Given the description of an element on the screen output the (x, y) to click on. 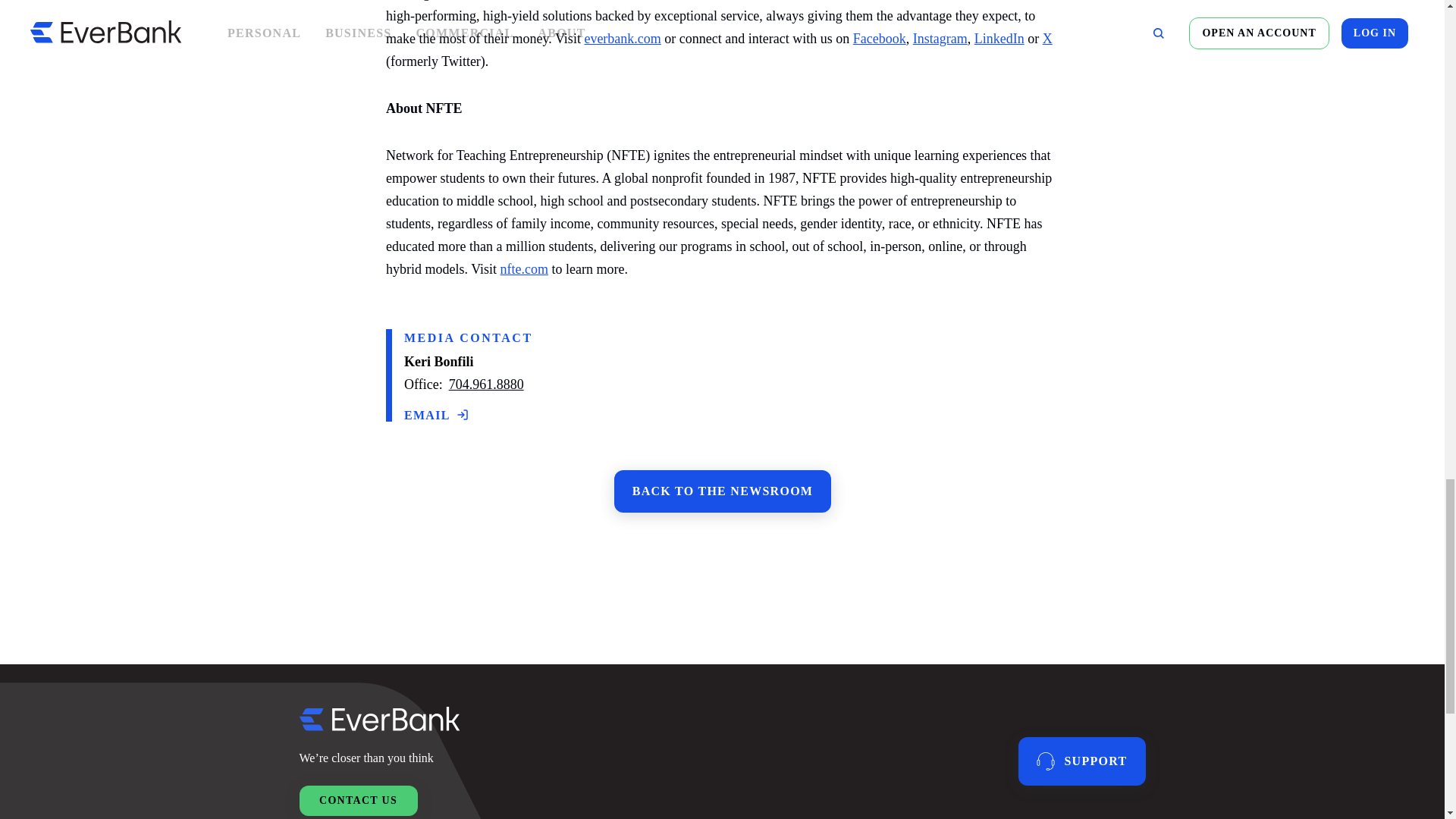
Facebook (878, 36)
LinkedIn (998, 36)
Instagram (939, 36)
704.961.8880 (485, 384)
EMAIL (435, 414)
X (1046, 36)
everbank.com (622, 36)
BACK TO THE NEWSROOM (721, 491)
nfte.com (523, 267)
